Given the description of an element on the screen output the (x, y) to click on. 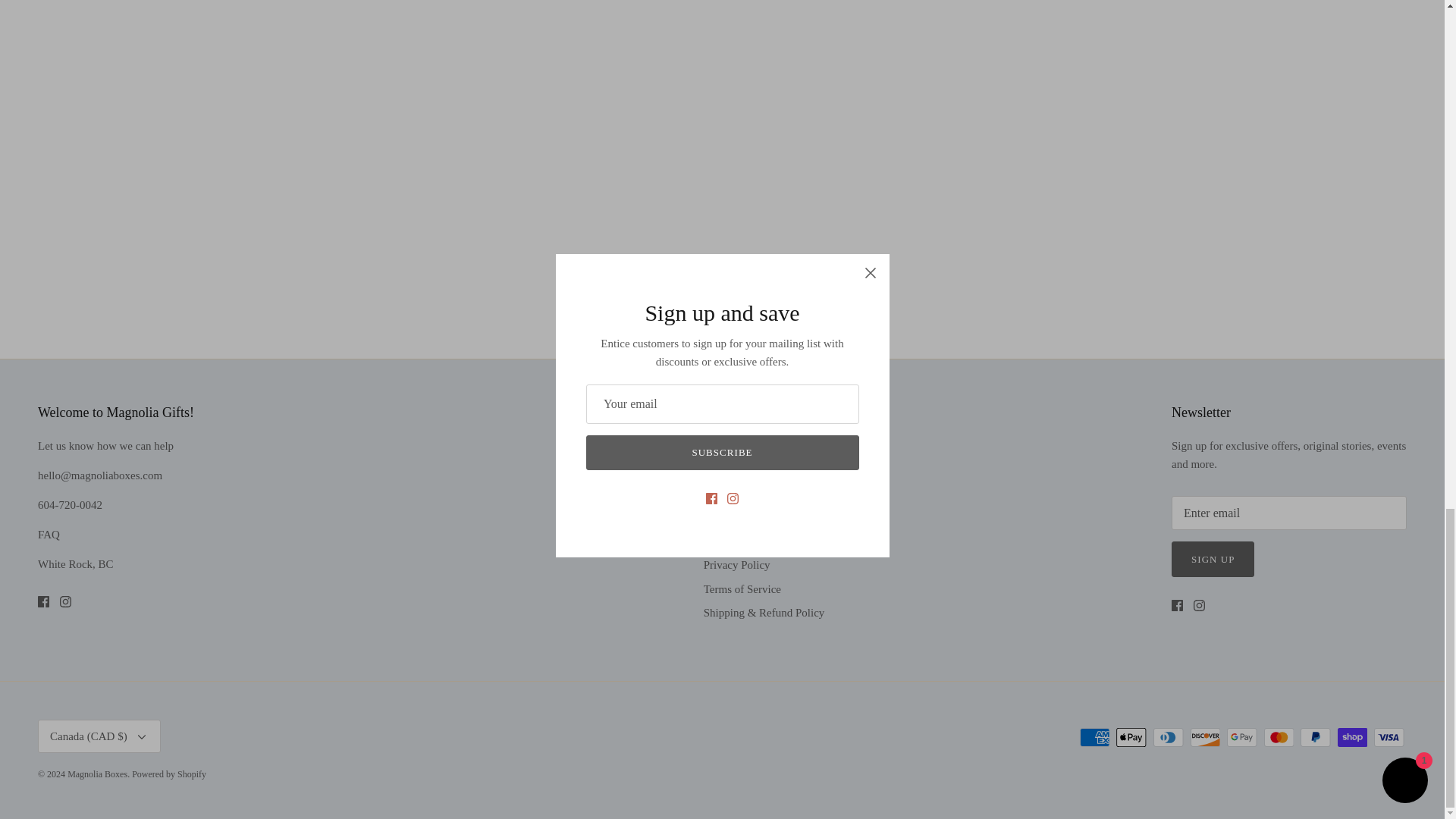
Facebook (43, 601)
Apple Pay (1130, 737)
Diners Club (1168, 737)
Discover (1205, 737)
Facebook (1177, 604)
Instagram (65, 601)
Instagram (1199, 604)
American Express (1094, 737)
